Given the description of an element on the screen output the (x, y) to click on. 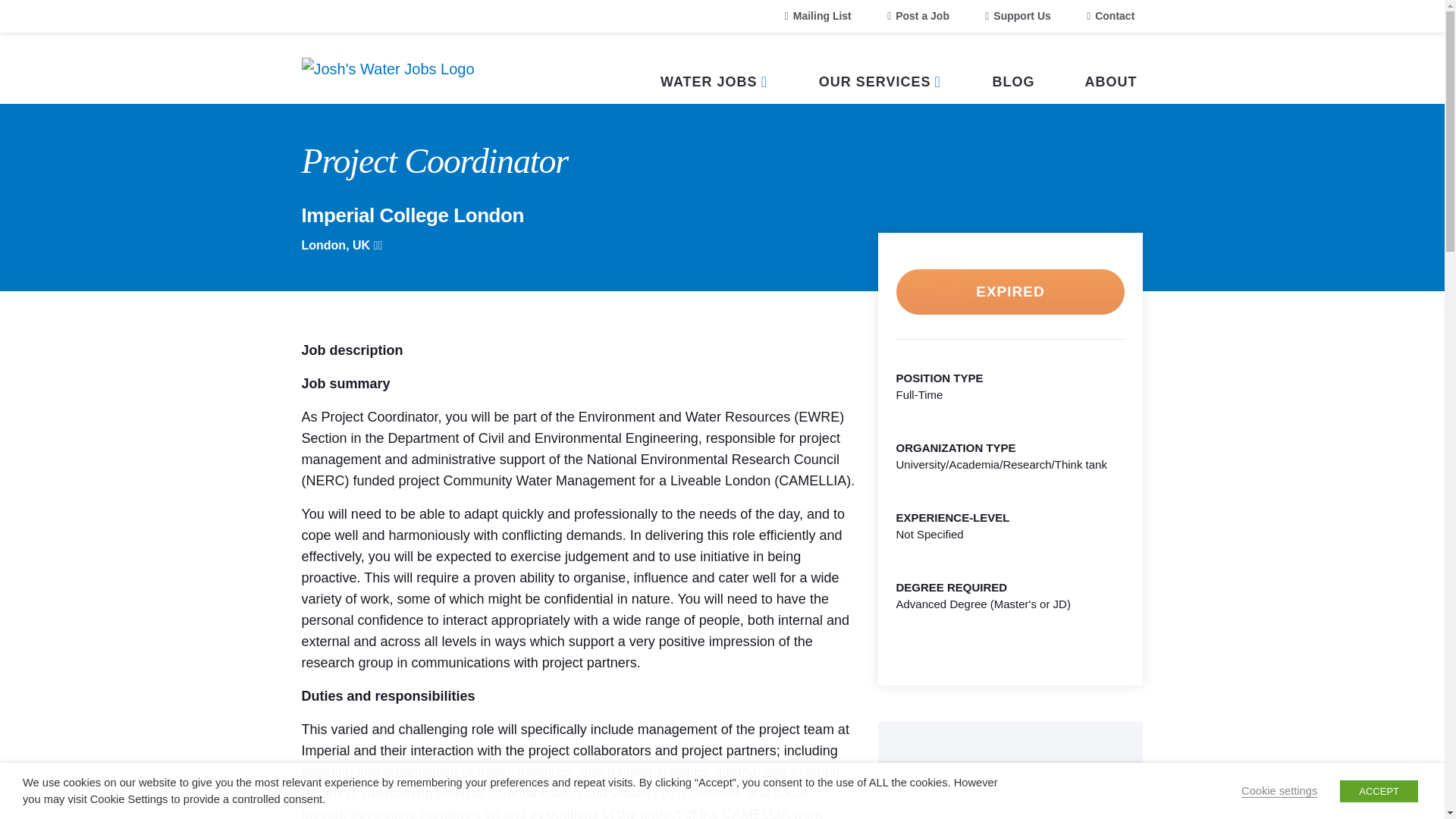
WATER JOBS (713, 68)
EXPIRED (1010, 291)
Mailing List (818, 16)
 Support Us (1017, 16)
EXPIRED (1010, 290)
About (1110, 68)
Our Services (880, 68)
 Mailing List (818, 16)
Support Us (1017, 16)
Water Jobs (713, 68)
